Given the description of an element on the screen output the (x, y) to click on. 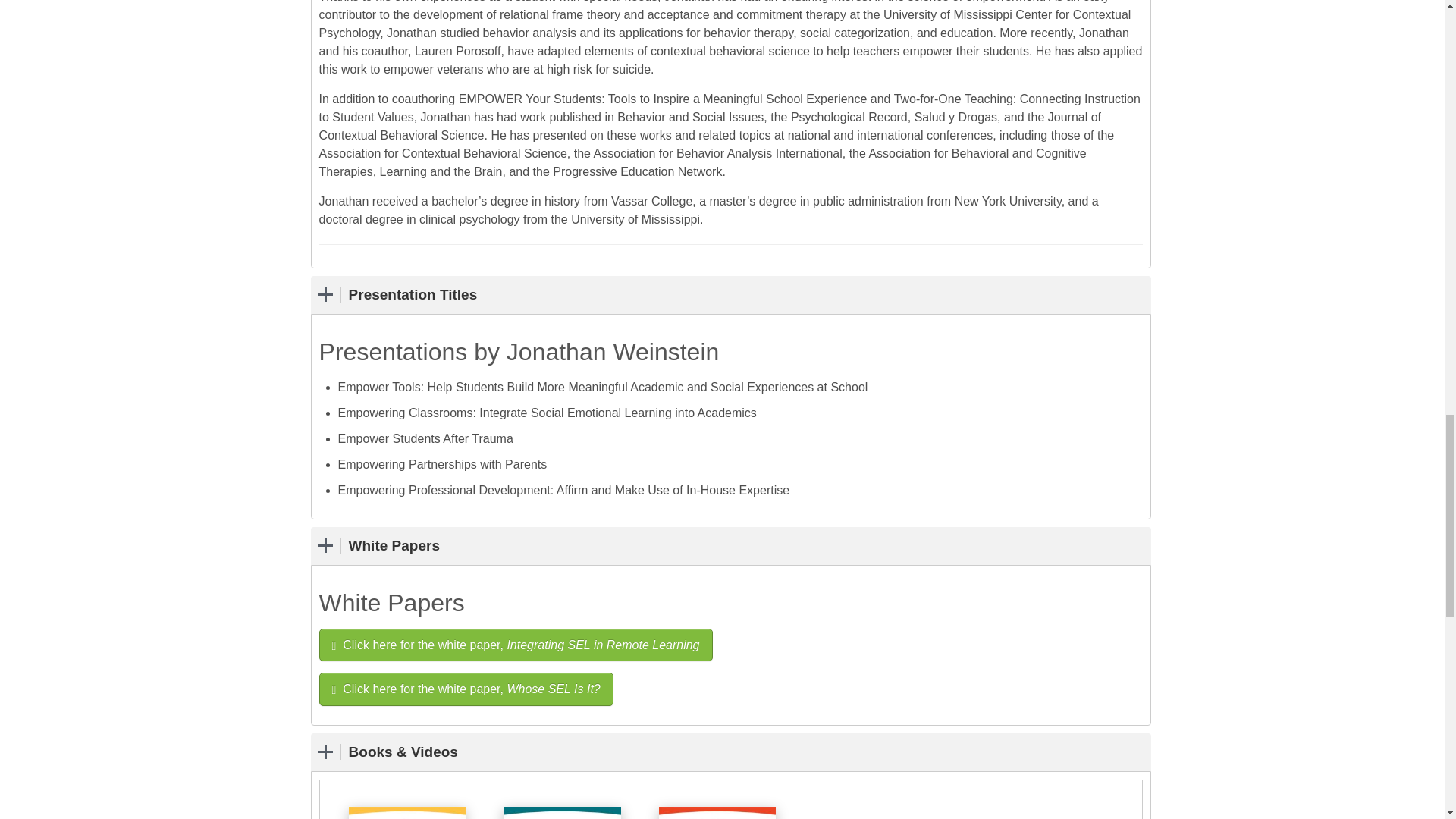
Two-for-One Teaching (561, 812)
EMPOWER Your Students (717, 812)
EMPOWER Moves for Social-Emotional Learning (407, 812)
